Given the description of an element on the screen output the (x, y) to click on. 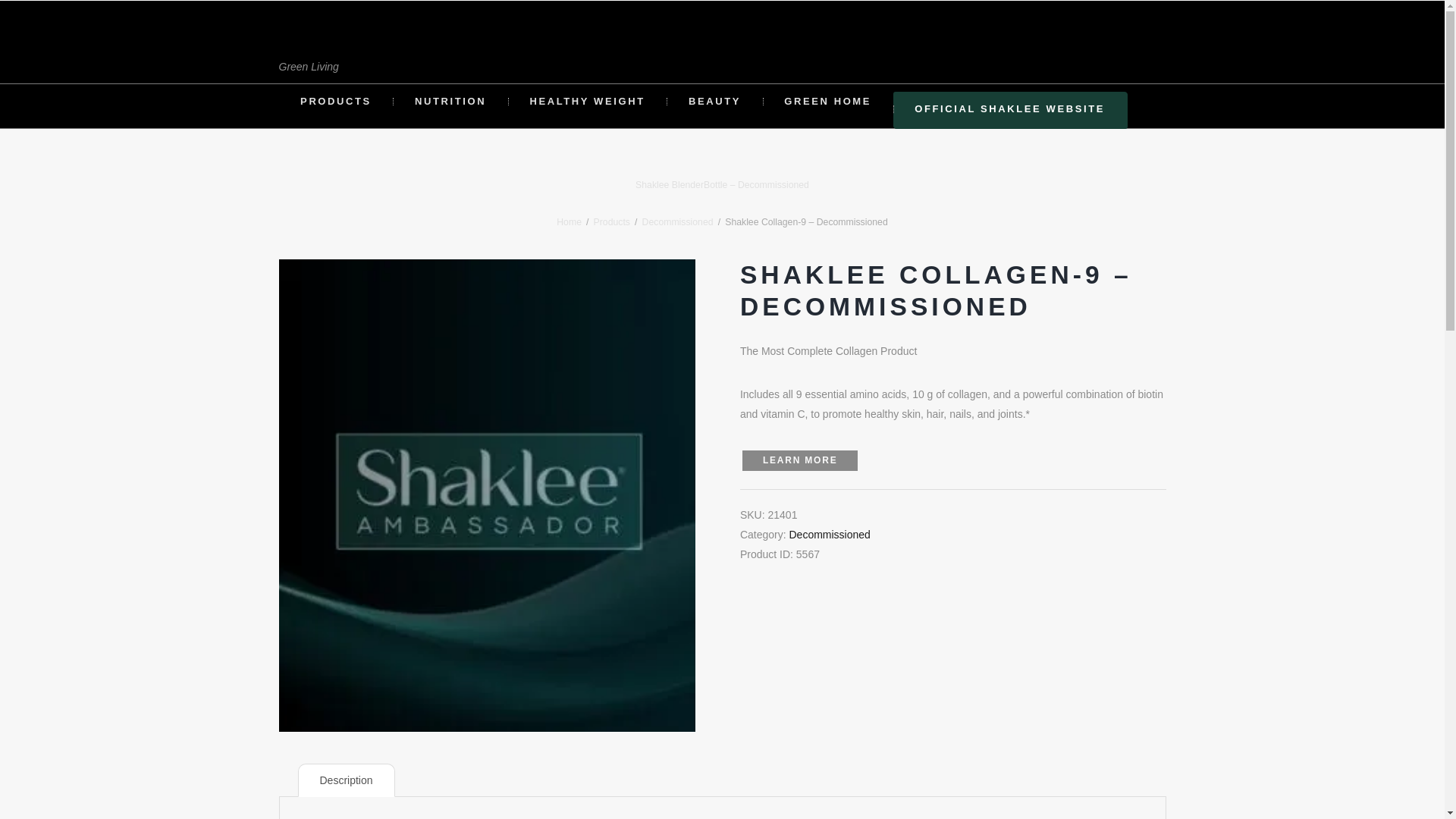
NUTRITION (449, 102)
Products (612, 222)
Green Living (309, 51)
GREEN HOME (827, 102)
Description (346, 780)
OFFICIAL SHAKLEE WEBSITE (1009, 109)
Home (568, 222)
PRODUCTS (336, 102)
Decommissioned (829, 534)
BEAUTY (713, 102)
